Given the description of an element on the screen output the (x, y) to click on. 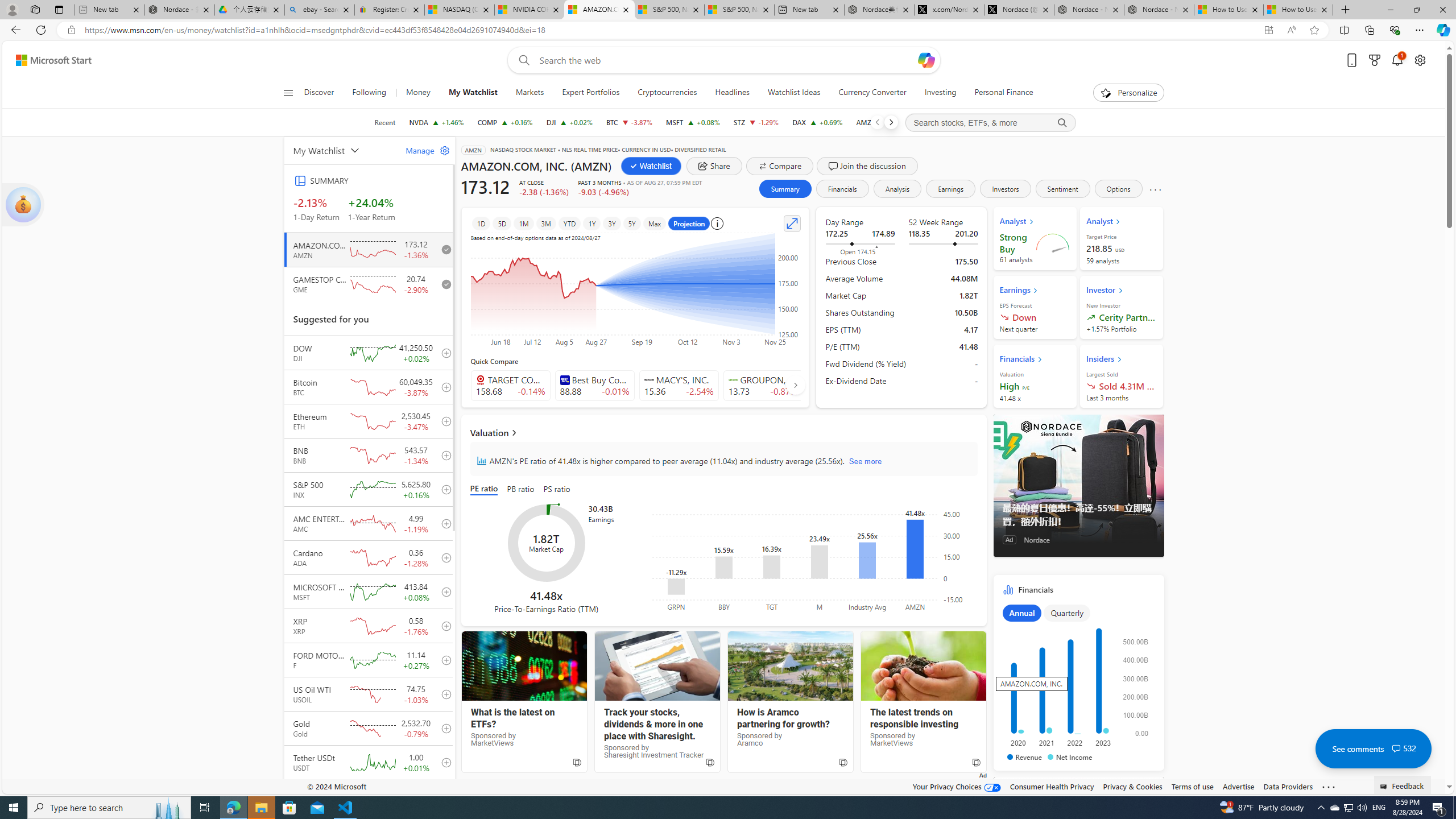
Web search (520, 60)
Class: autoSuggestIcon-DS-EntryPoint1-1 (733, 379)
STZ CONSTELLATION BRANDS, INC. decrease 239.98 -3.13 -1.29% (756, 122)
Open settings (1420, 60)
Compare (779, 166)
Open Copilot (925, 59)
Following (368, 92)
Class: button-glyph (287, 92)
